Given the description of an element on the screen output the (x, y) to click on. 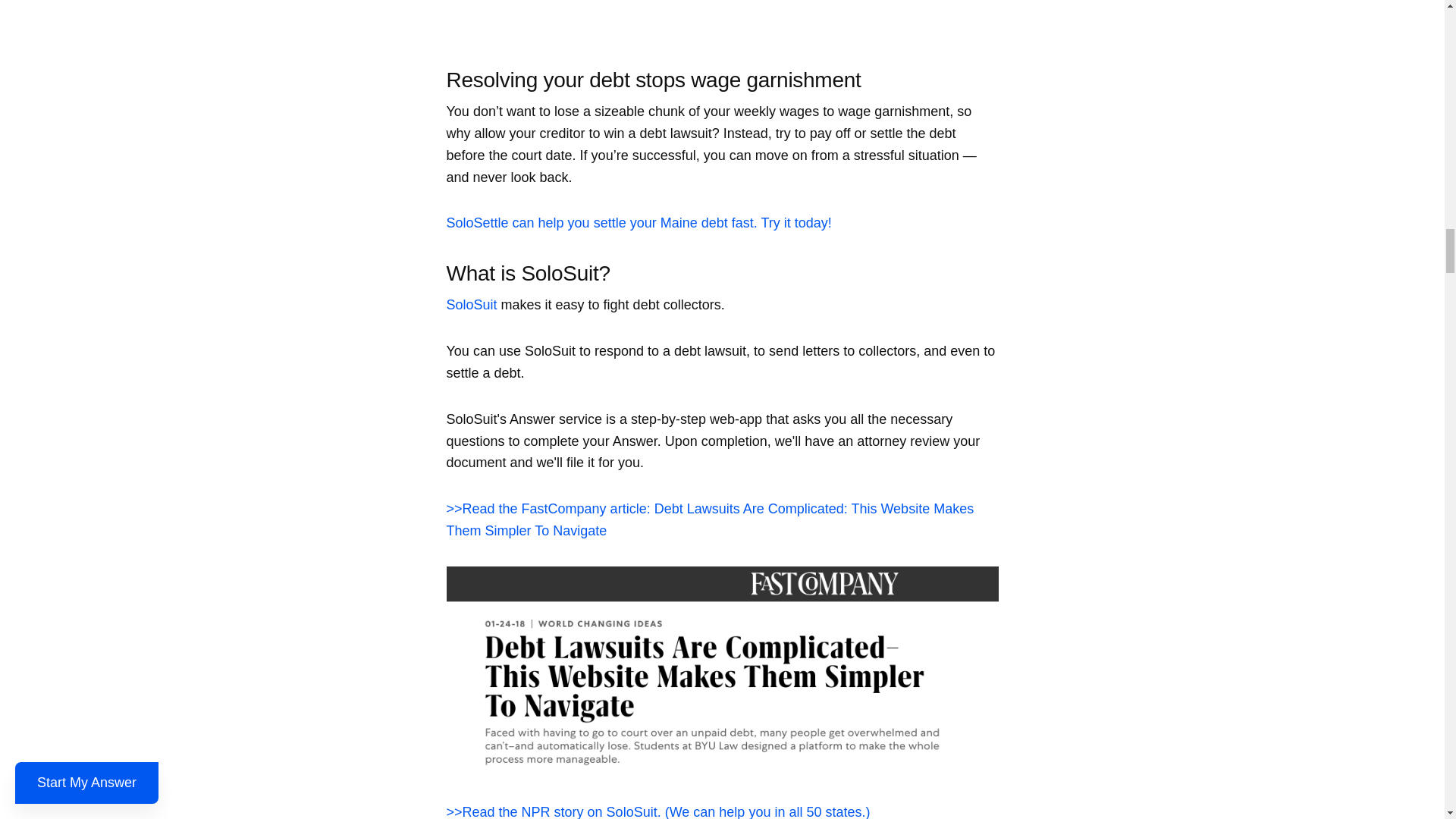
YouTube video player (721, 20)
SoloSuit (470, 304)
